Given the description of an element on the screen output the (x, y) to click on. 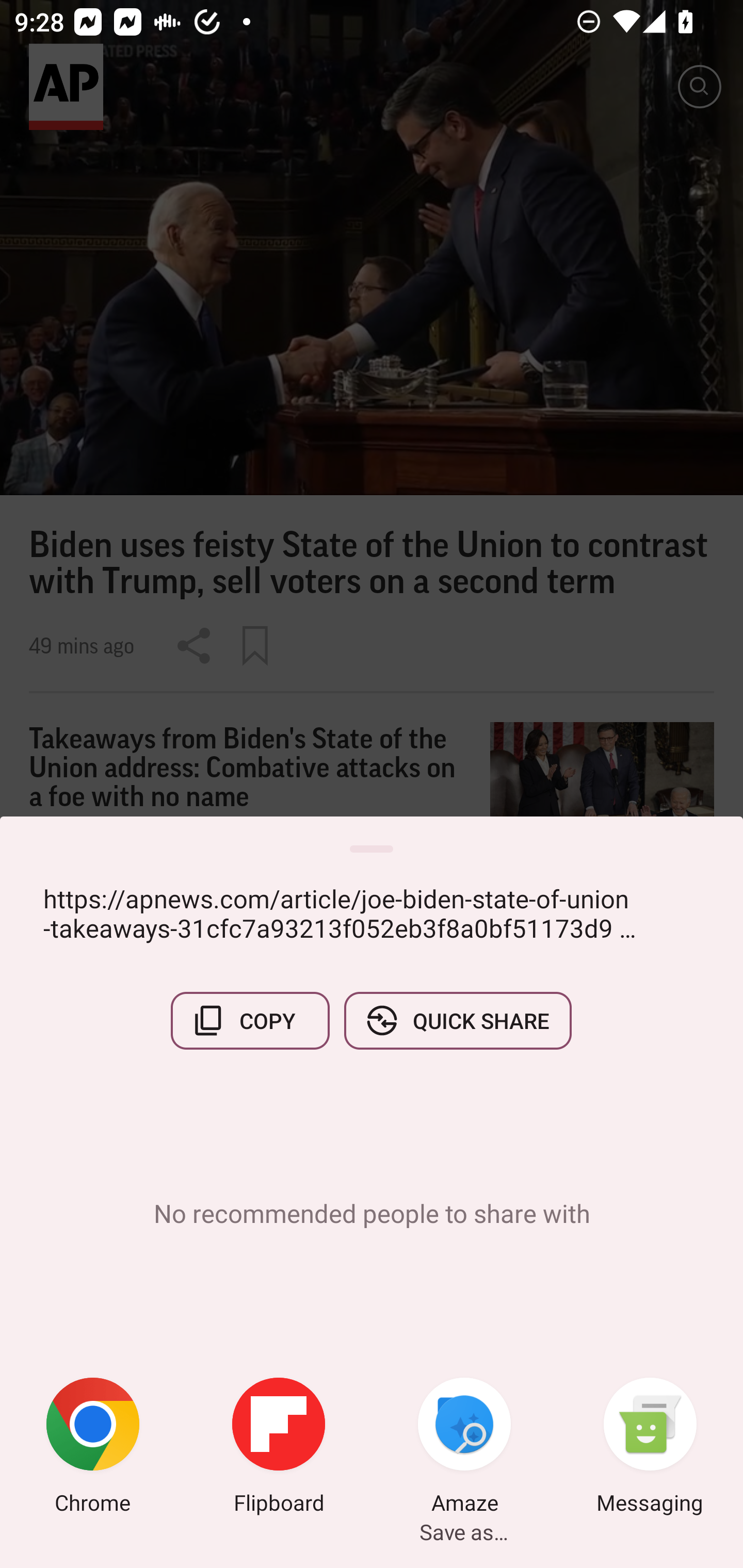
COPY (249, 1020)
QUICK SHARE (457, 1020)
Chrome (92, 1448)
Flipboard (278, 1448)
Amaze Save as… (464, 1448)
Messaging (650, 1448)
